Given the description of an element on the screen output the (x, y) to click on. 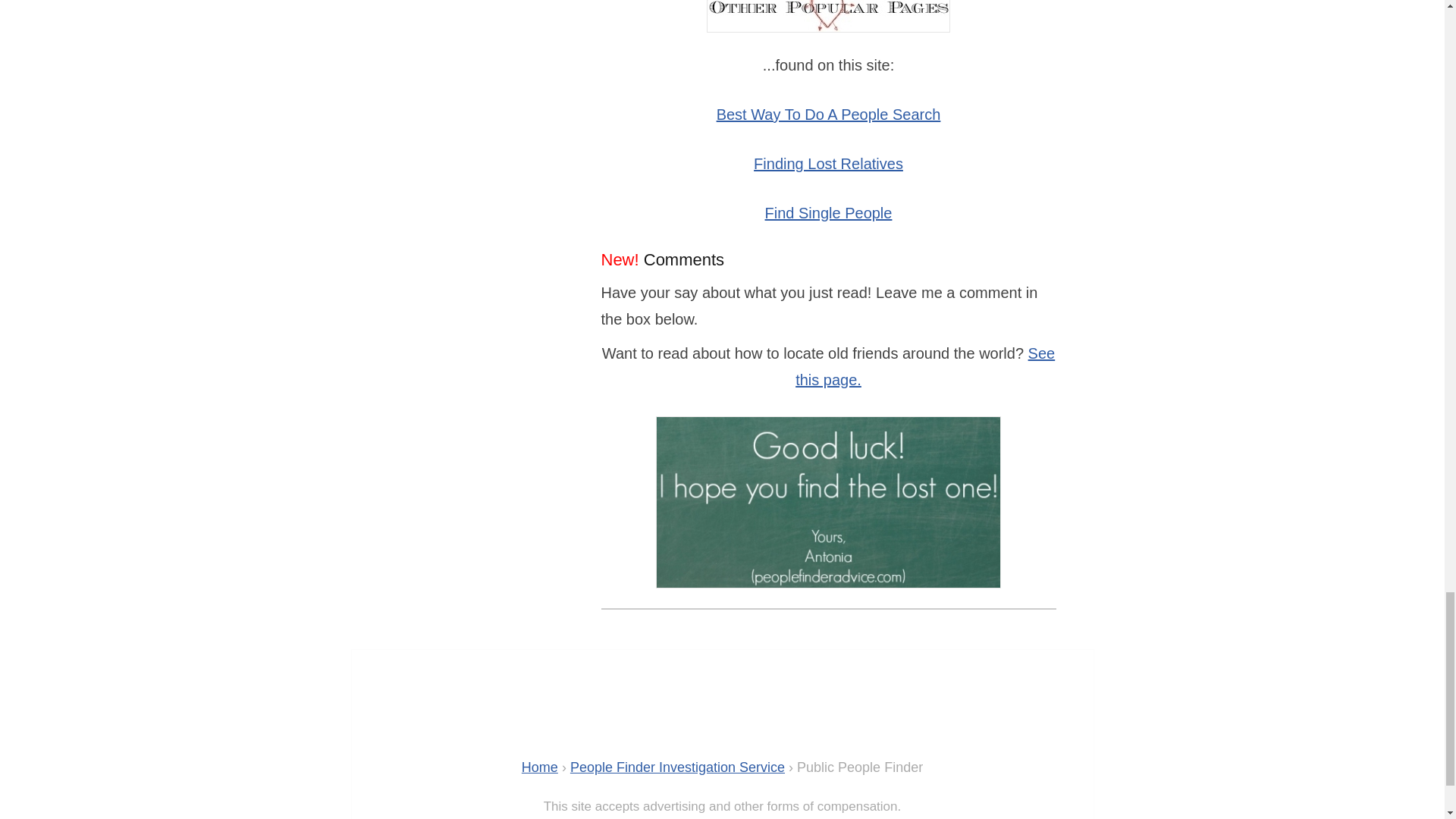
Advertisement (779, 714)
Best Way To Do A People Search (828, 114)
Finding Lost Relatives (828, 163)
See this page. (924, 365)
Find Single People (828, 212)
